Given the description of an element on the screen output the (x, y) to click on. 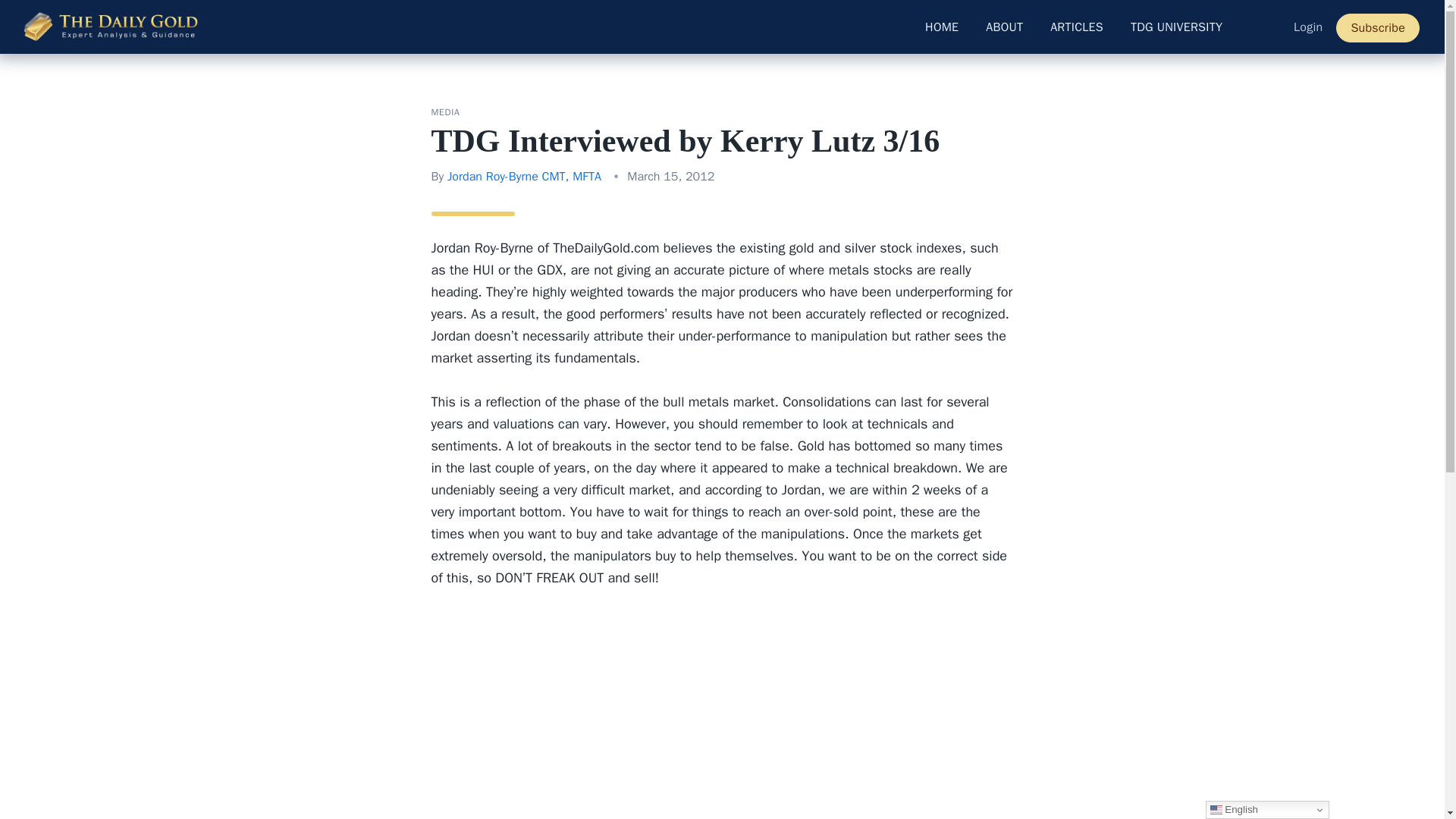
ABOUT (1004, 26)
English (1267, 809)
ARTICLES (1076, 26)
TDG UNIVERSITY (1176, 26)
MEDIA (445, 111)
Subscribe (1377, 27)
Login (1307, 26)
Jordan Roy-Byrne CMT, MFTA (523, 176)
HOME (941, 26)
